Given the description of an element on the screen output the (x, y) to click on. 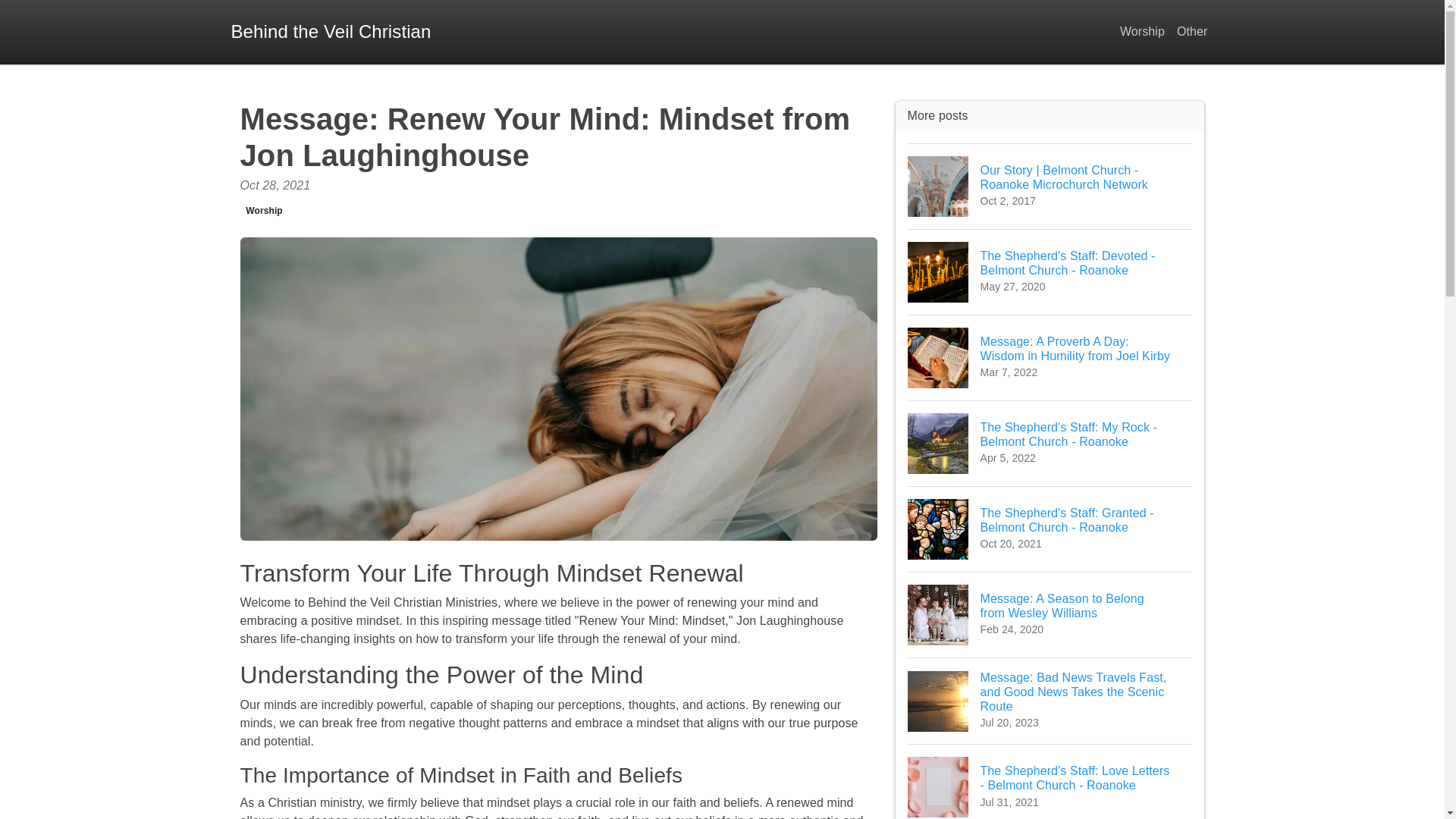
Other (1192, 32)
Behind the Veil Christian (330, 31)
Worship (1141, 32)
Worship (264, 210)
